Given the description of an element on the screen output the (x, y) to click on. 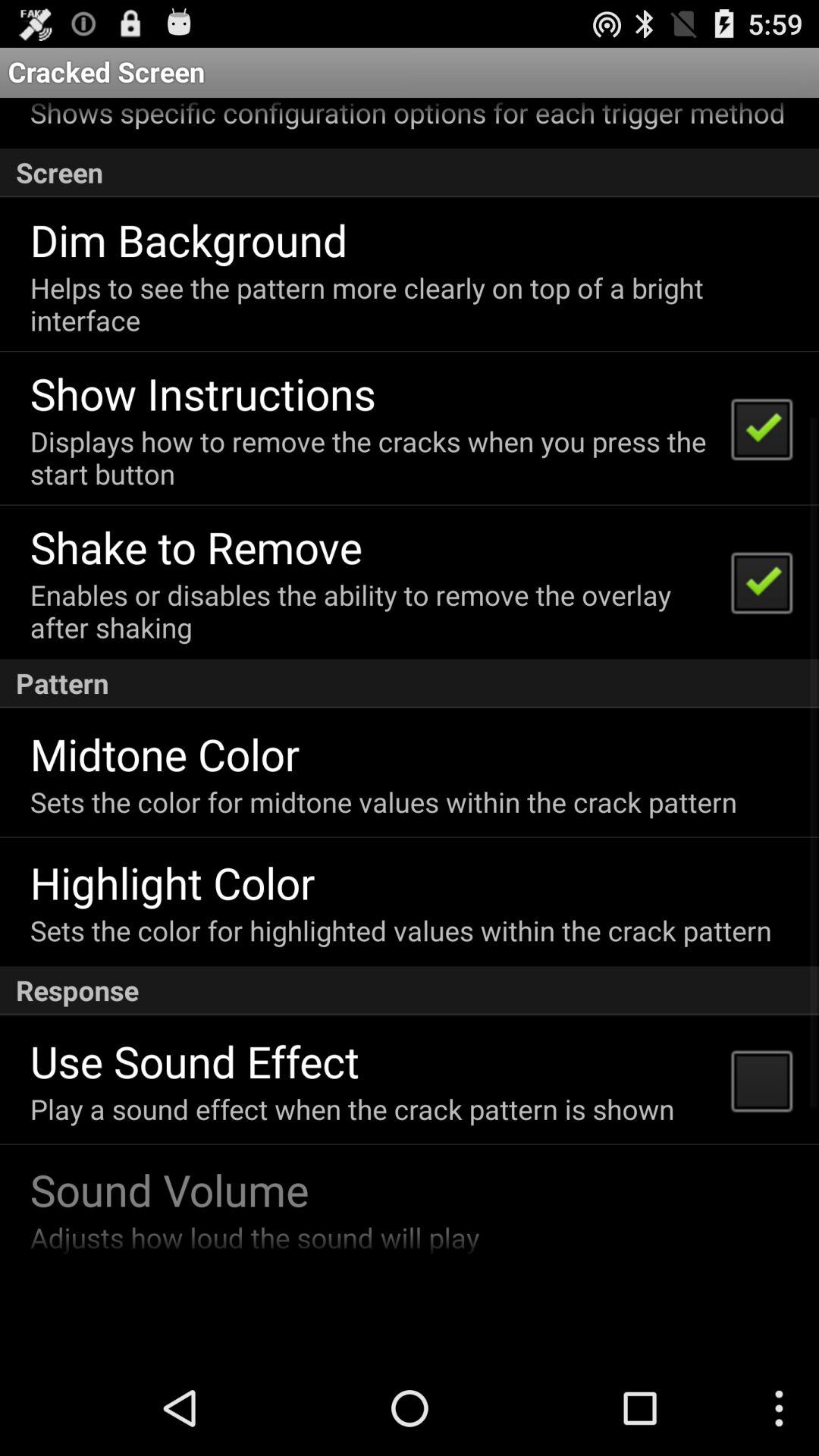
swipe until the highlight color item (172, 882)
